Given the description of an element on the screen output the (x, y) to click on. 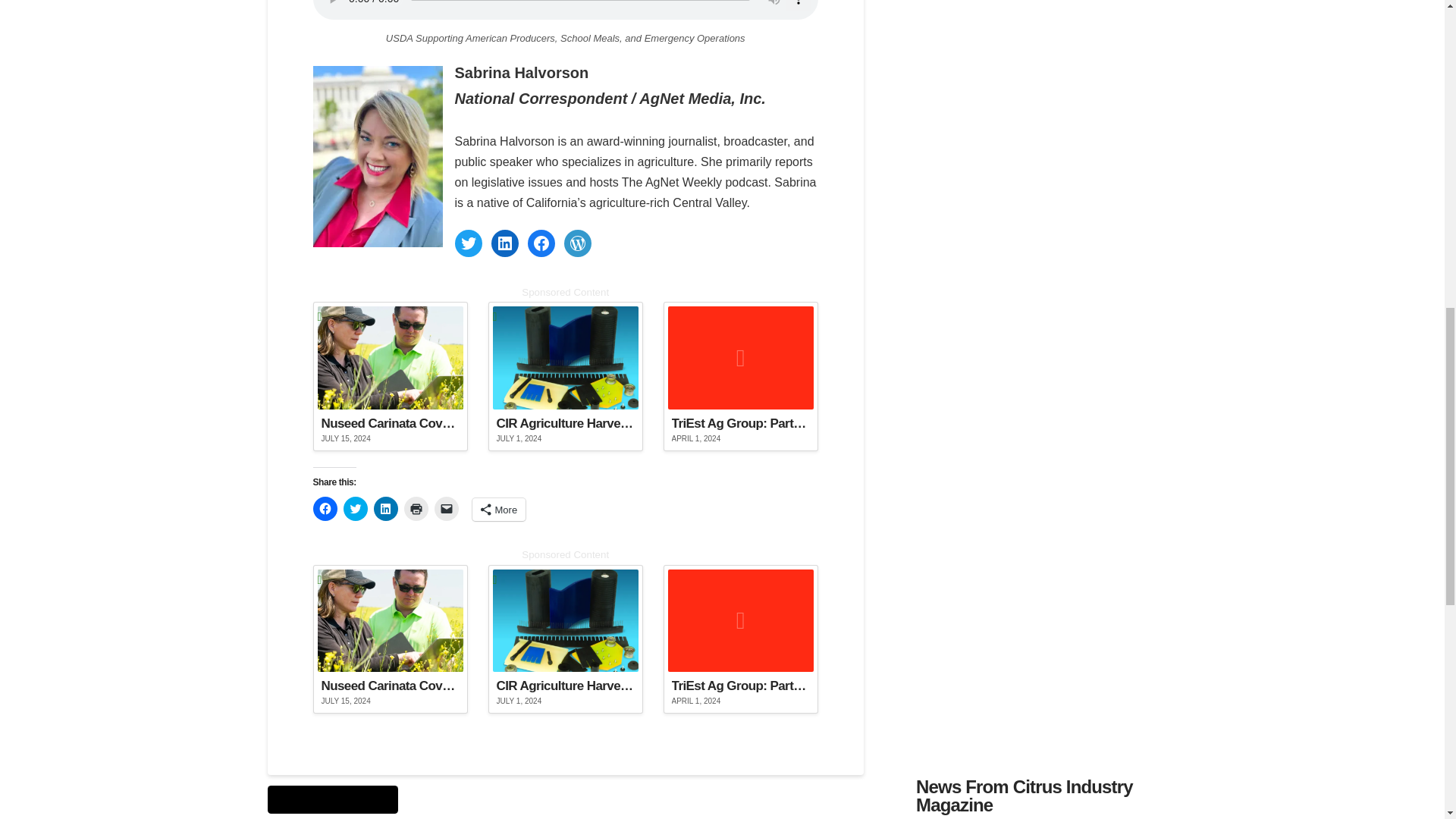
Click to share on Twitter (354, 508)
Permalink to: "TriEst Ag Group: Partners in Profitability" (740, 376)
Click to print (415, 508)
Click to share on LinkedIn (384, 508)
Click to email a link to a friend (445, 508)
Permalink to: "CIR Agriculture Harvester Products" (565, 376)
Permalink to: "Nuseed Carinata Covers New Ground" (390, 376)
Click to share on Facebook (324, 508)
